Given the description of an element on the screen output the (x, y) to click on. 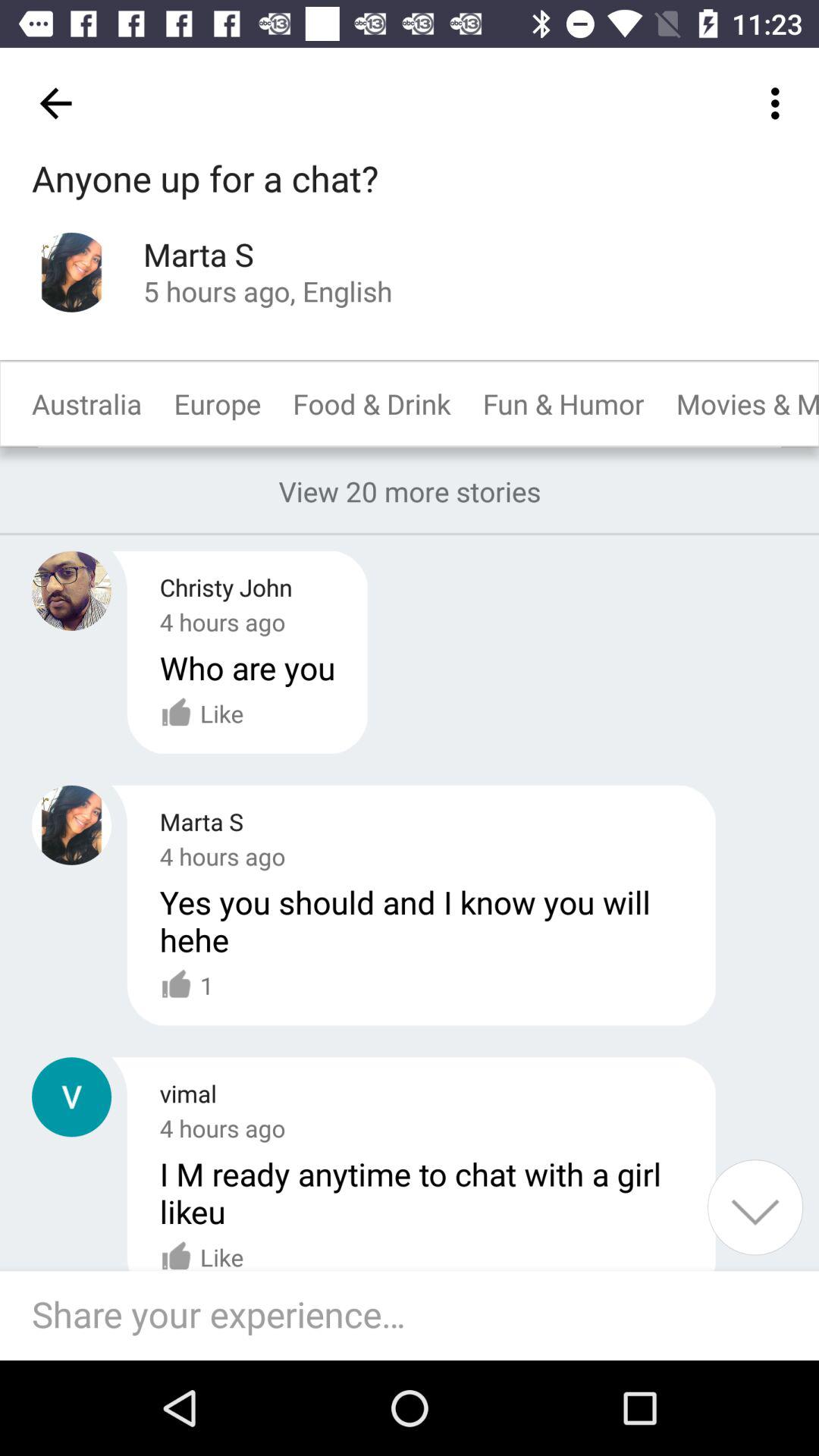
show more content (755, 1207)
